Given the description of an element on the screen output the (x, y) to click on. 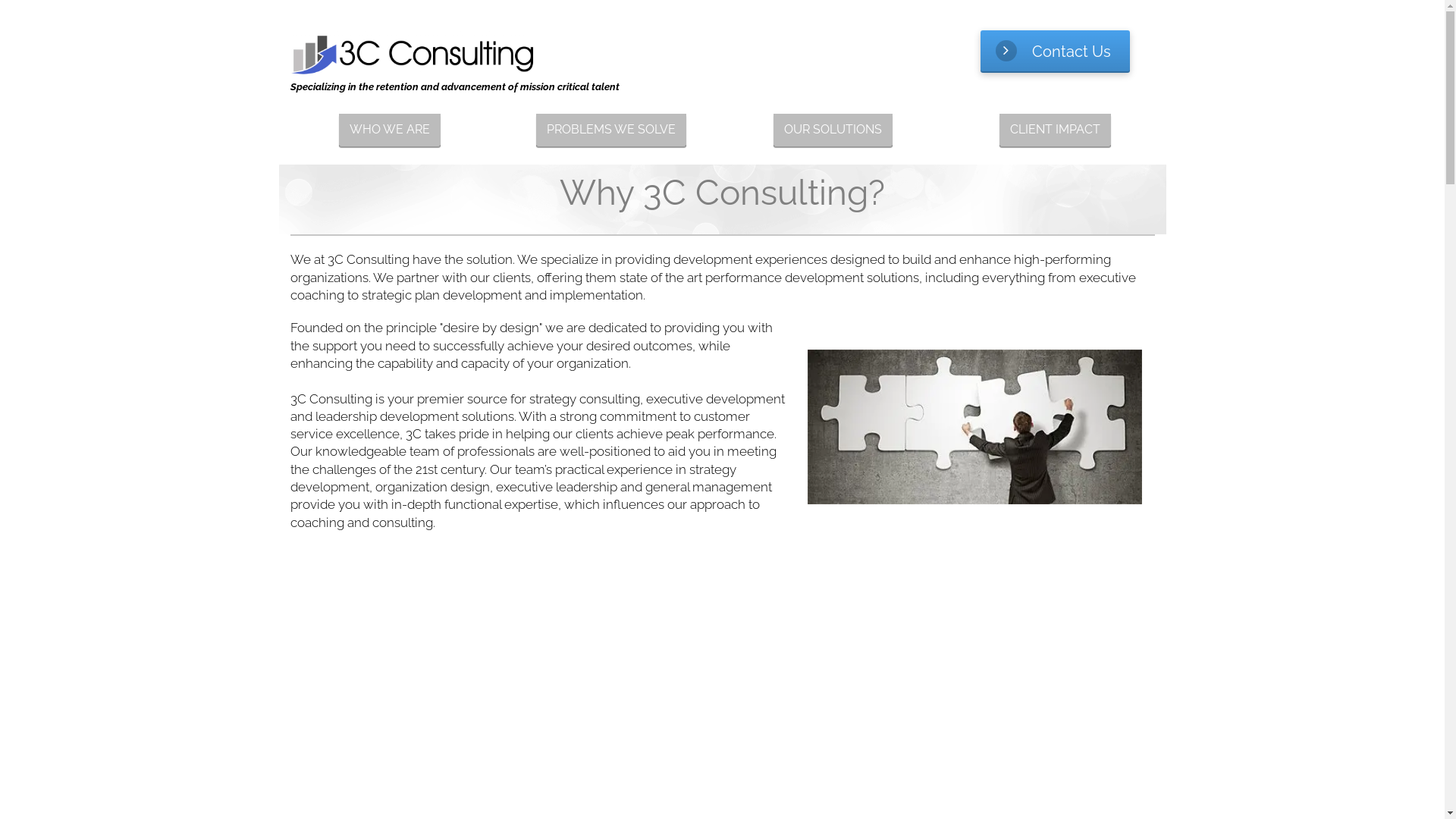
OUR SOLUTIONS Element type: text (832, 129)
PROBLEMS WE SOLVE Element type: text (611, 129)
CLIENT IMPACT Element type: text (1054, 129)
WHO WE ARE Element type: text (389, 129)
Contact Us Element type: text (1054, 51)
